Given the description of an element on the screen output the (x, y) to click on. 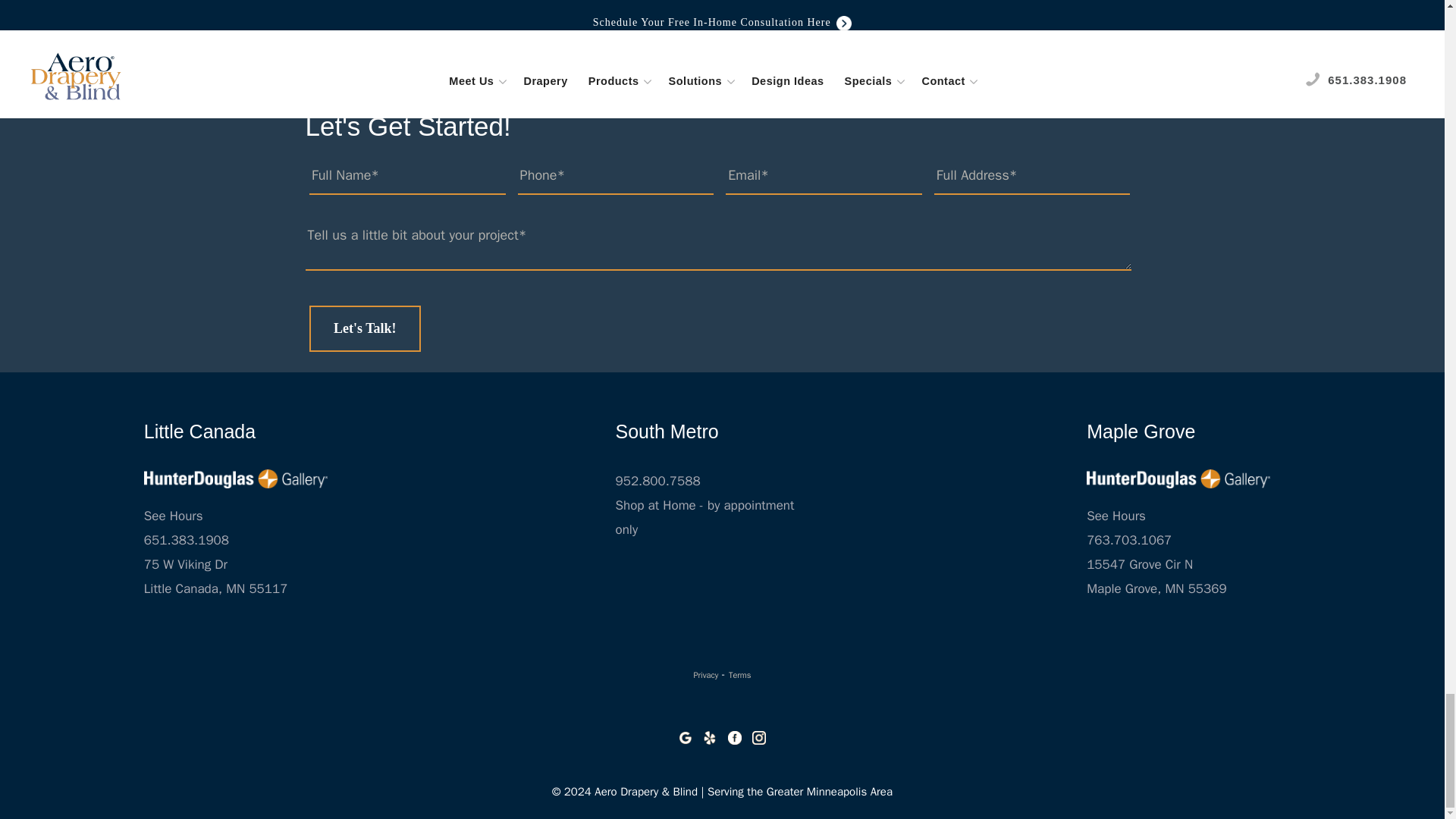
Let's Talk! (364, 328)
